Given the description of an element on the screen output the (x, y) to click on. 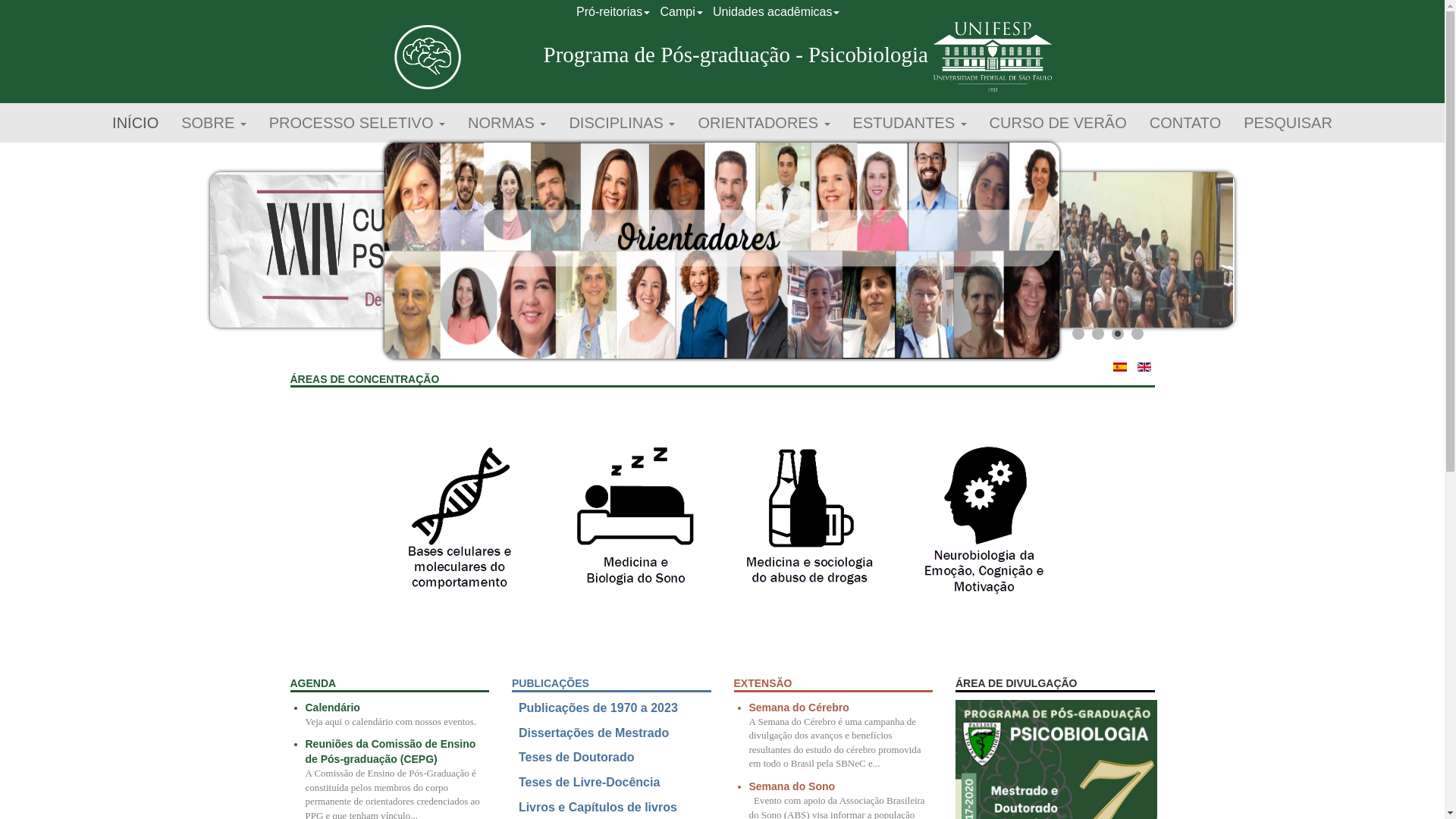
Semana do Sono Element type: text (792, 786)
PESQUISAR Element type: text (1287, 122)
DISCIPLINAS Element type: text (621, 122)
Campi Element type: text (680, 11)
SOBRE Element type: text (213, 122)
es-ES  Element type: hover (1119, 366)
Teses de Doutorado Element type: text (576, 756)
ESTUDANTES Element type: text (909, 122)
English (UK) Element type: hover (1144, 366)
NORMAS Element type: text (506, 122)
ORIENTADORES Element type: text (763, 122)
PROCESSO SELETIVO Element type: text (356, 122)
CONTATO Element type: text (1185, 122)
